Given the description of an element on the screen output the (x, y) to click on. 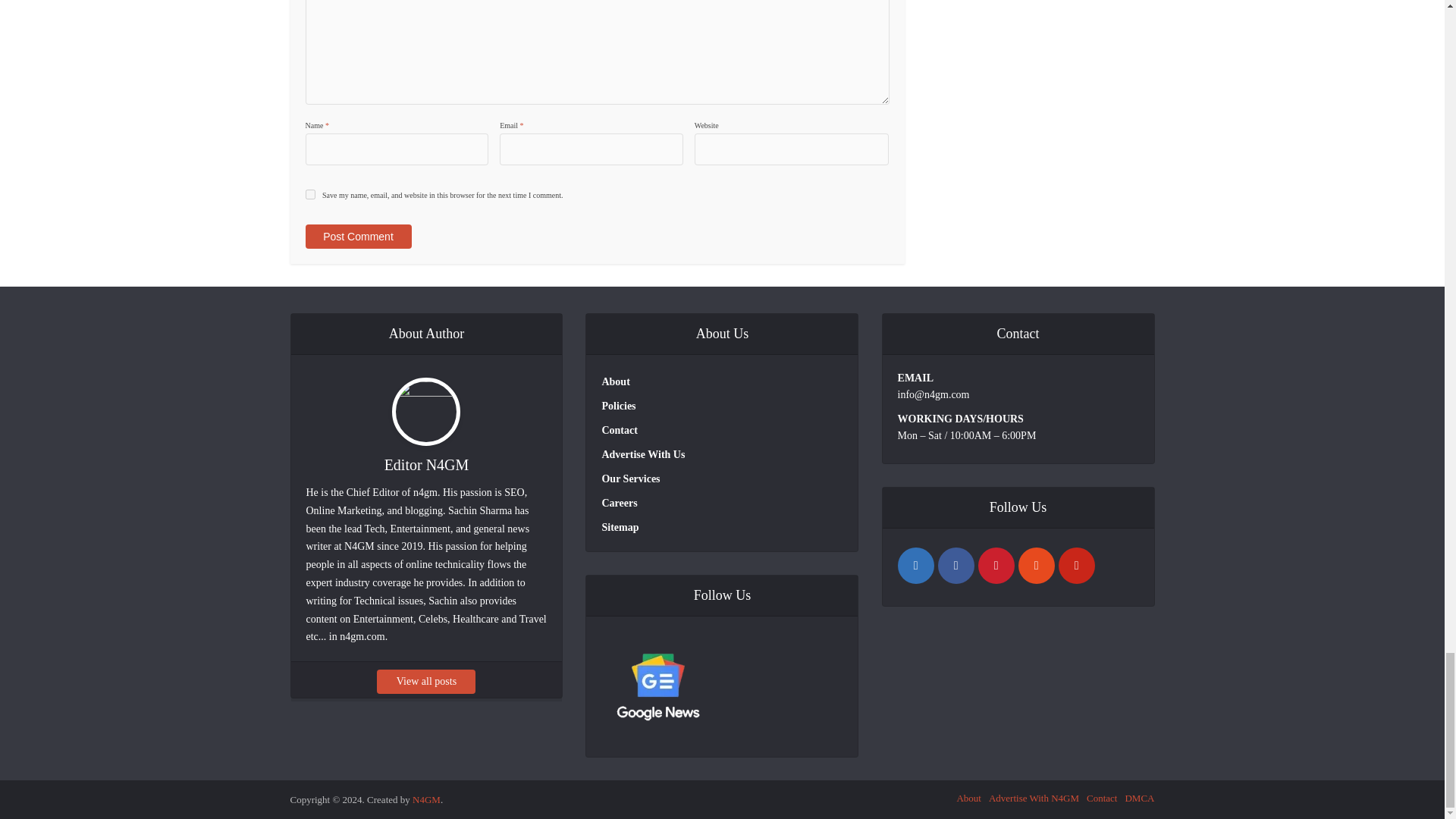
Post Comment (357, 236)
yes (309, 194)
